Given the description of an element on the screen output the (x, y) to click on. 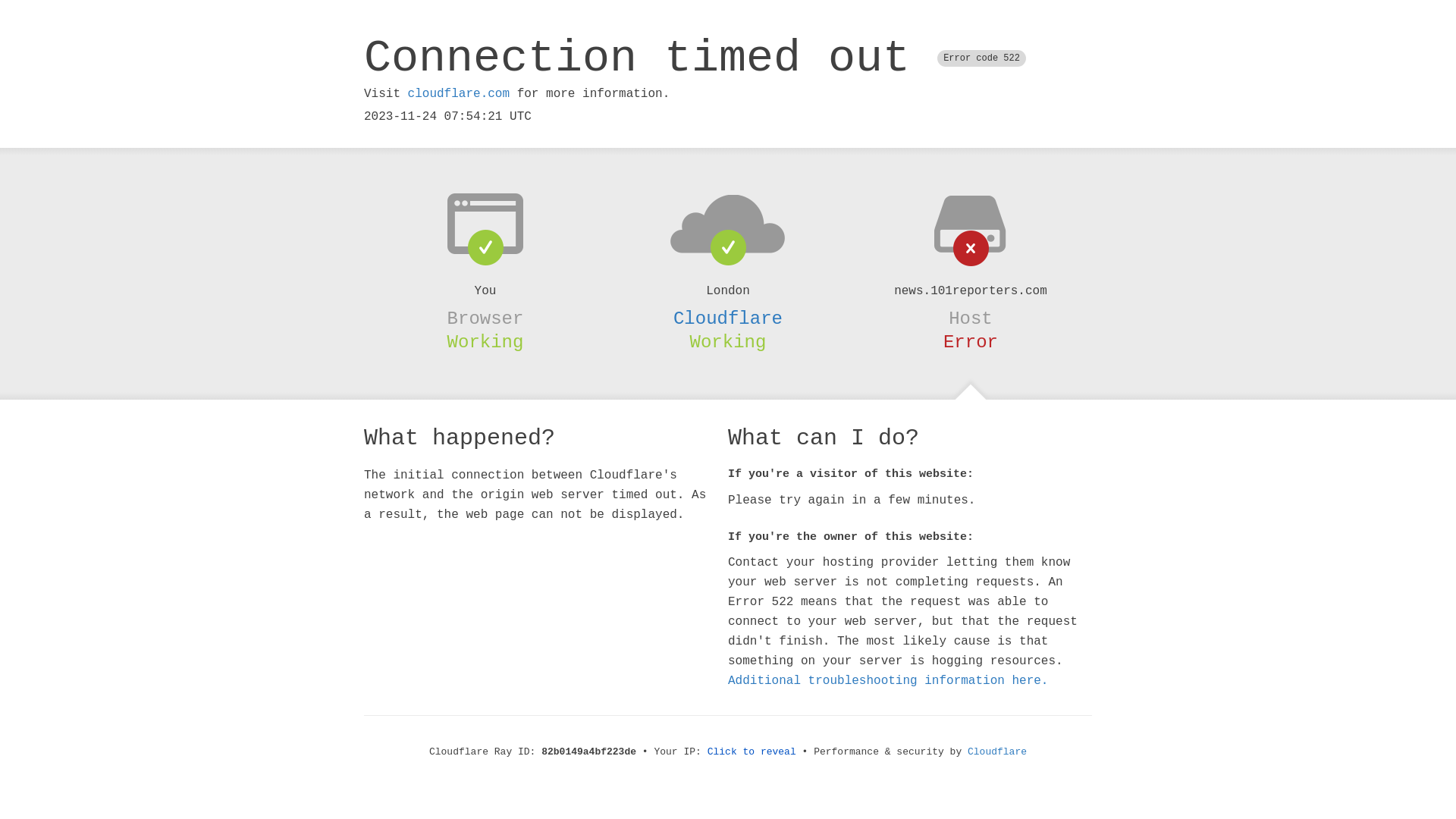
Click to reveal Element type: text (751, 751)
Additional troubleshooting information here. Element type: text (888, 680)
cloudflare.com Element type: text (458, 93)
Cloudflare Element type: text (727, 318)
Cloudflare Element type: text (996, 751)
